Given the description of an element on the screen output the (x, y) to click on. 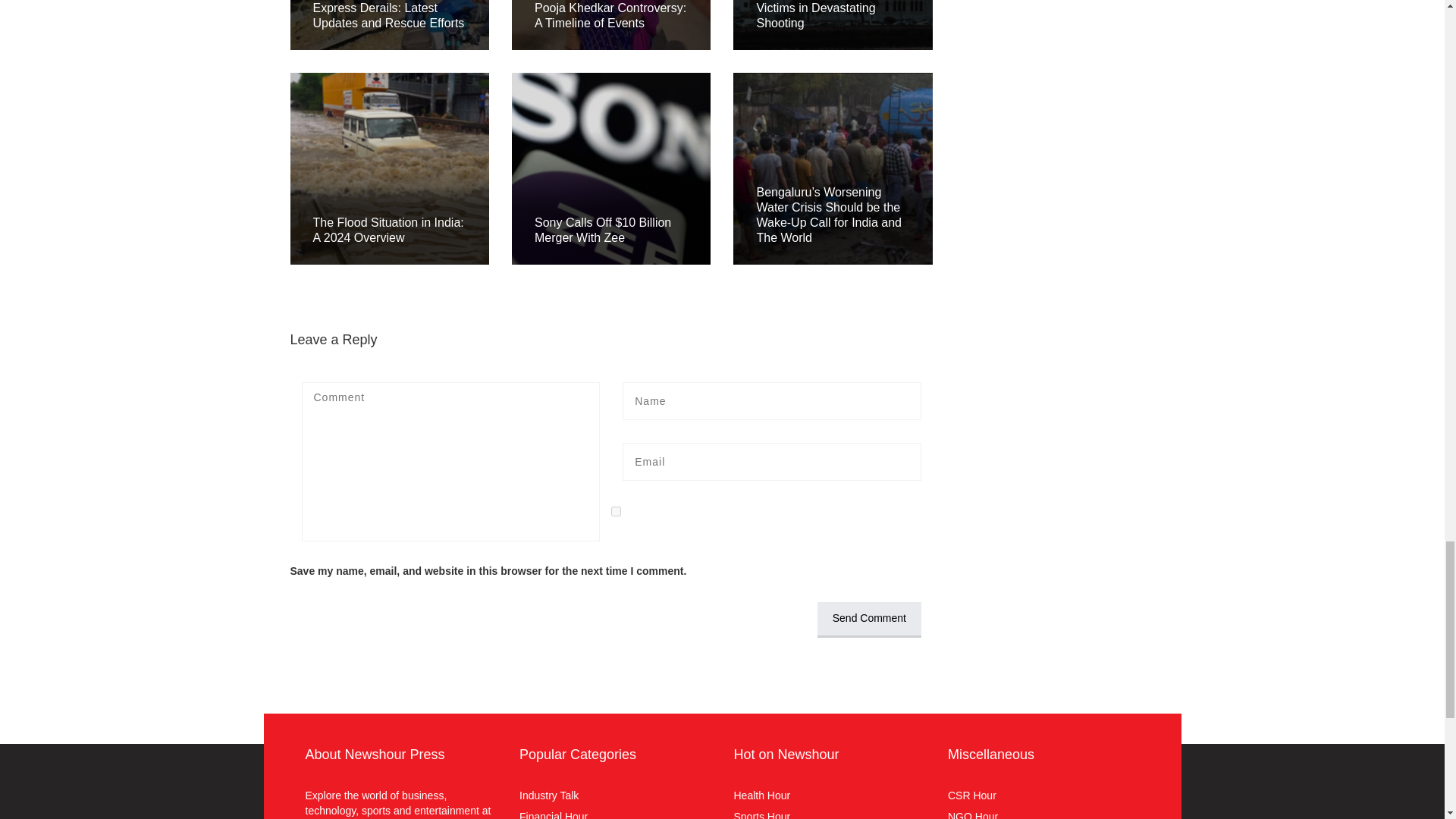
yes (616, 511)
Send Comment (868, 619)
